Given the description of an element on the screen output the (x, y) to click on. 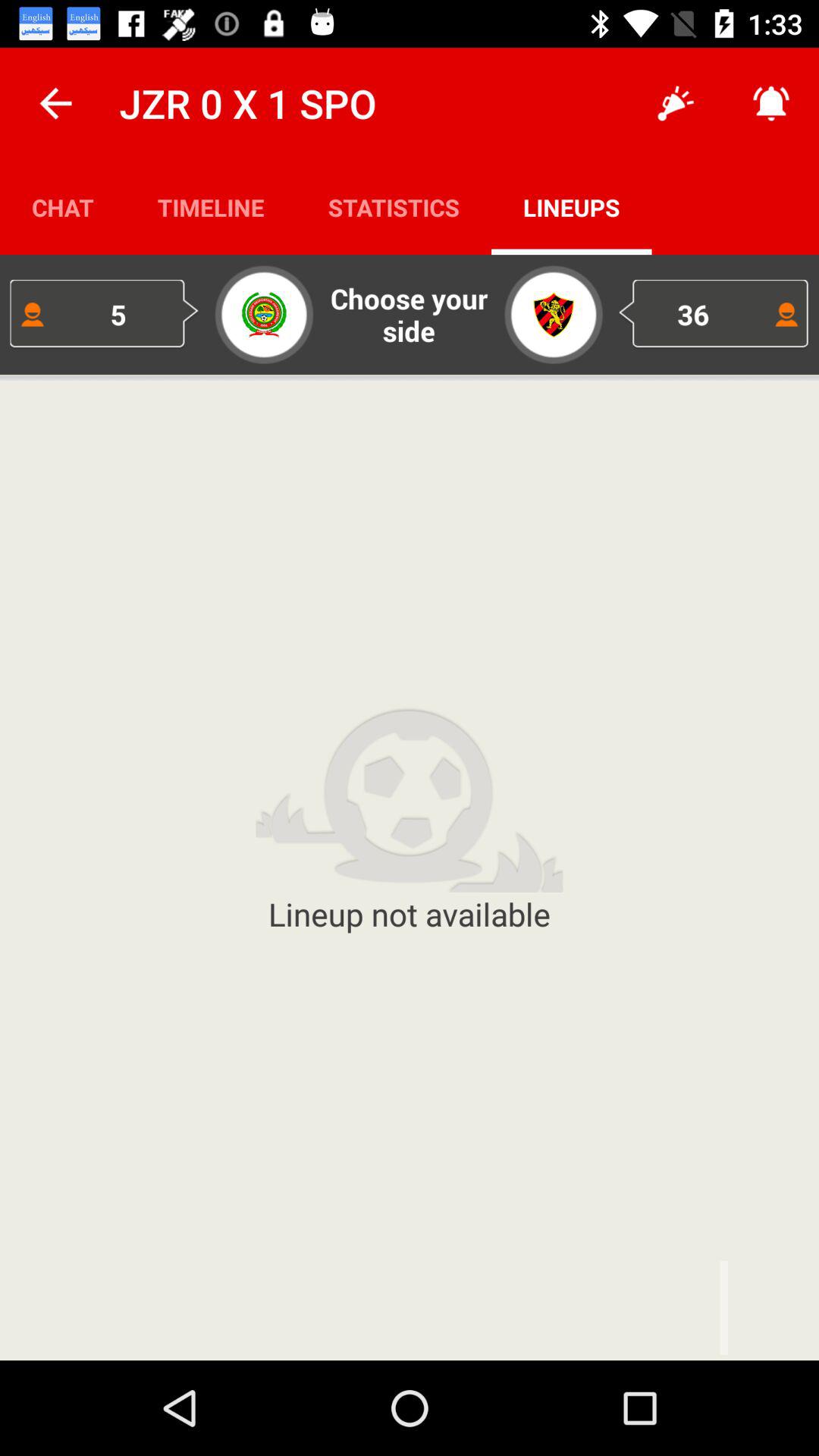
choose the app to the right of statistics app (675, 103)
